Given the description of an element on the screen output the (x, y) to click on. 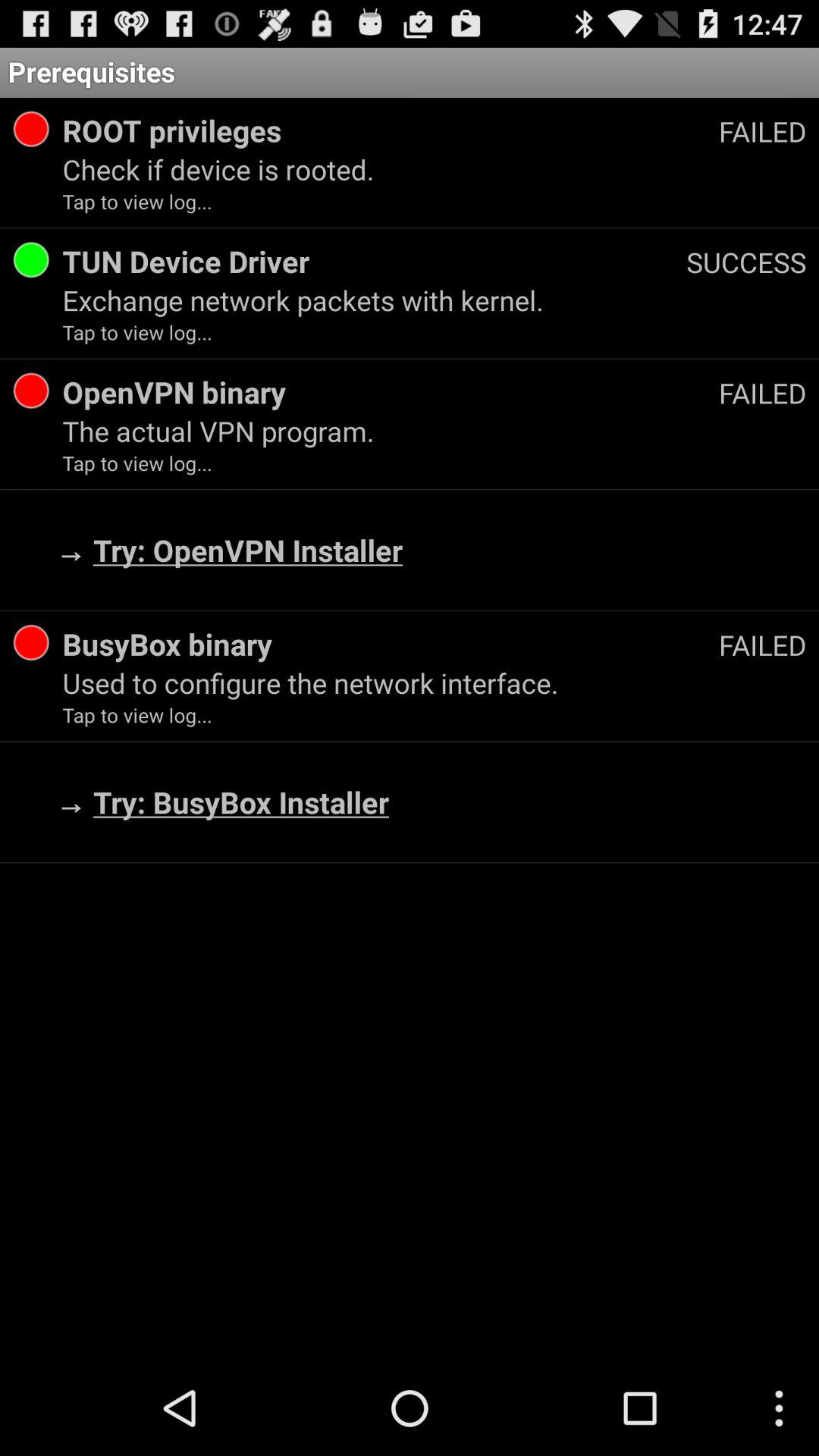
launch the item below the busybox binary icon (434, 682)
